Given the description of an element on the screen output the (x, y) to click on. 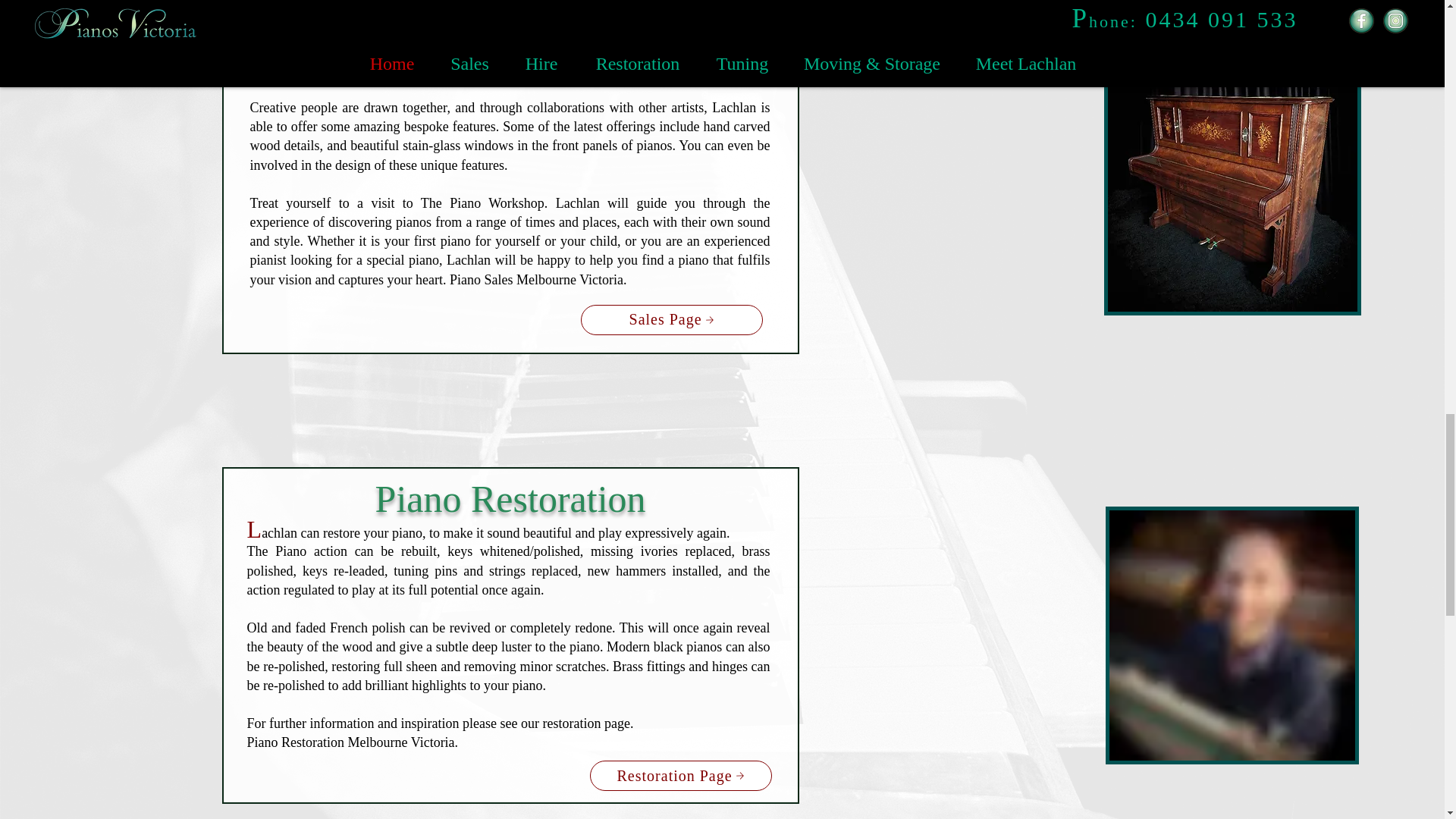
Sales Page (671, 319)
Restoration Page (680, 775)
Pianos Victoria Piano Sales Piano Restoration Piano Tuning (1232, 186)
Piano Restoration (510, 505)
